Given the description of an element on the screen output the (x, y) to click on. 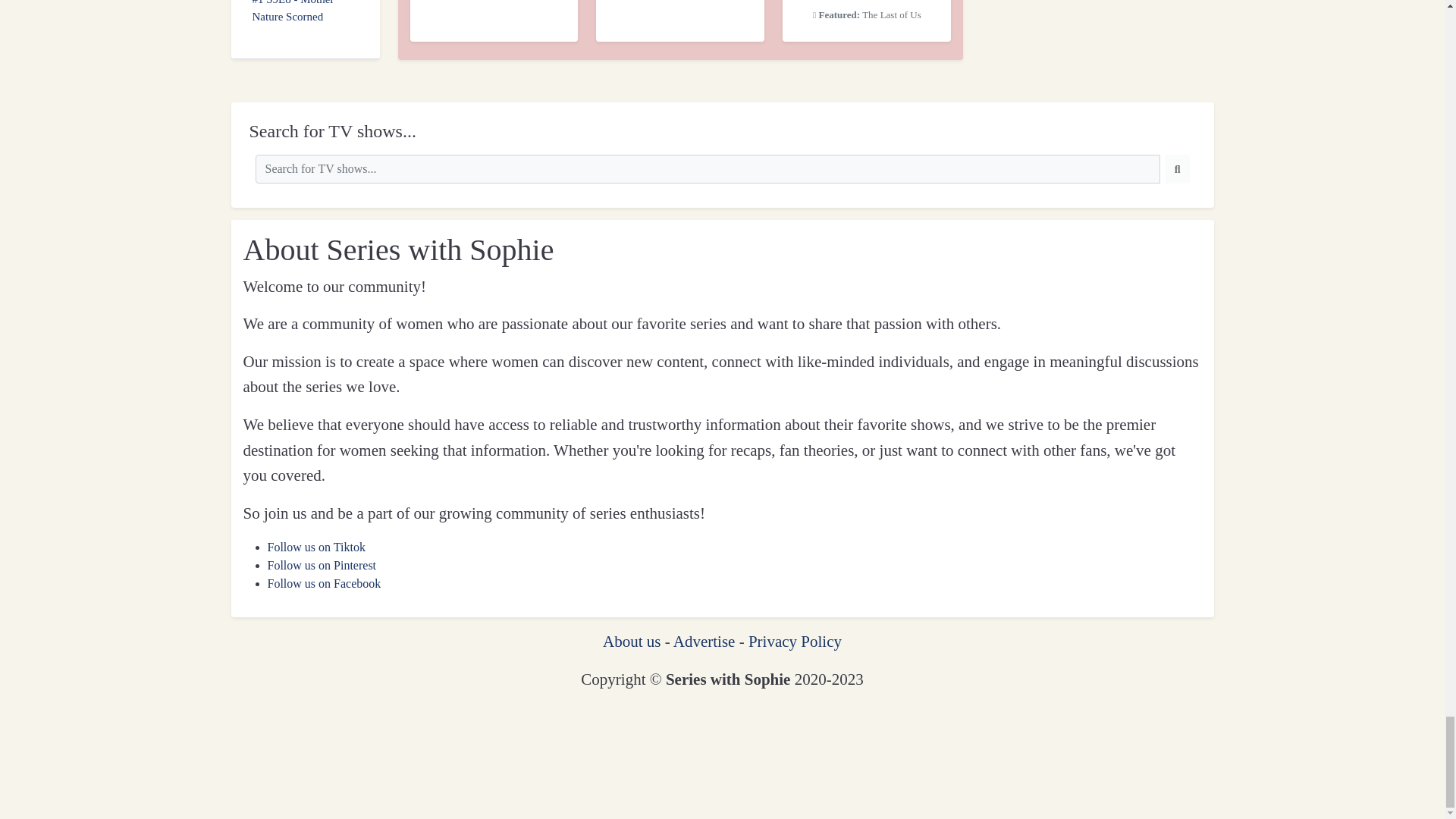
Follow us on Pinterest (320, 564)
Follow us on Pinterest (320, 564)
Follow us on Facebook (323, 583)
Follow us on Tiktok (315, 546)
Follow us on Facebook (323, 583)
Follow us on Tiktok (315, 546)
